Given the description of an element on the screen output the (x, y) to click on. 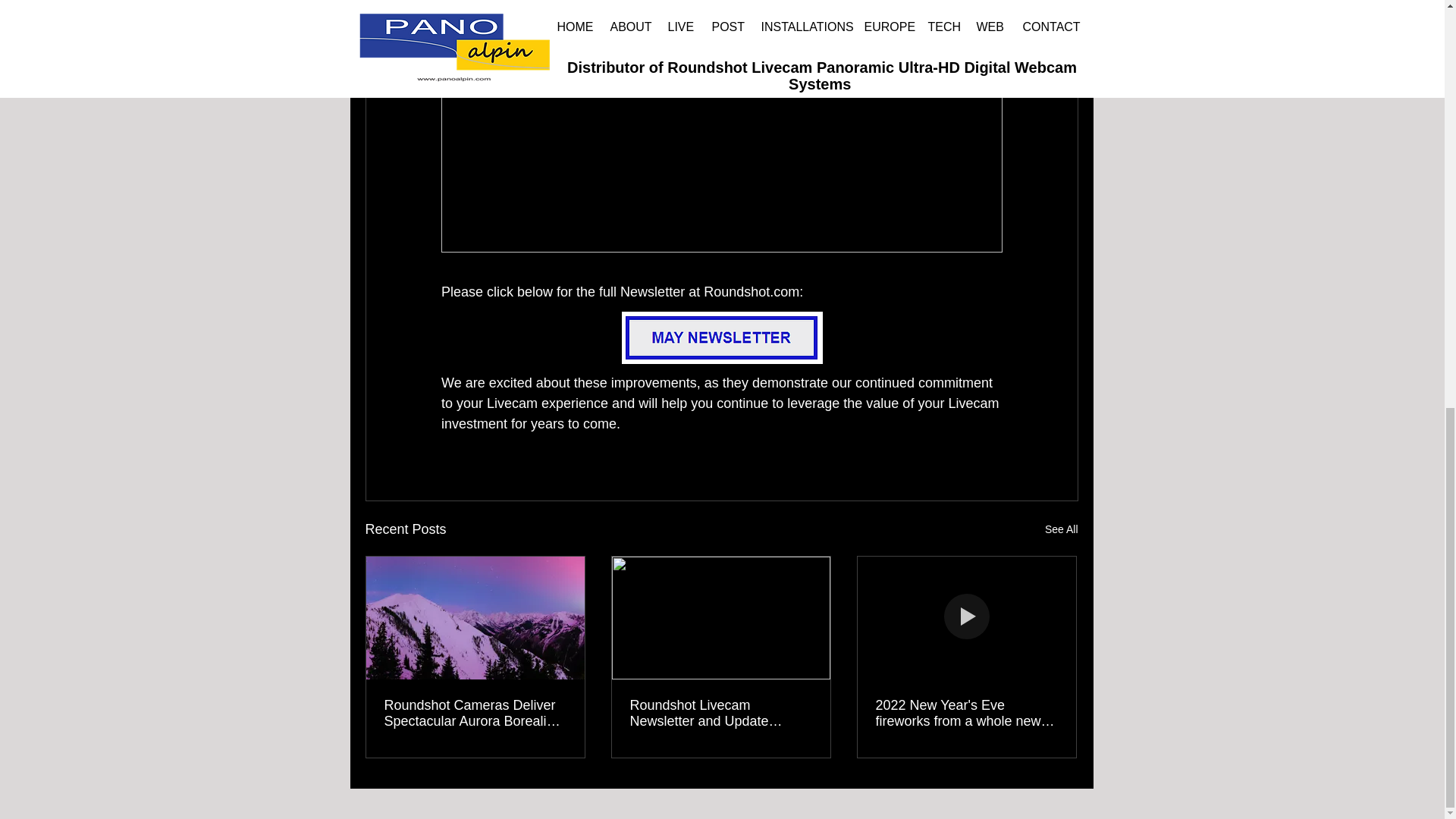
Roundshot Cameras Deliver Spectacular Aurora Borealis Images (475, 713)
See All (1061, 529)
2022 New Year's Eve fireworks from a whole new perspective (966, 713)
Roundshot Livecam Newsletter and Update Spring 2023 (719, 713)
